Given the description of an element on the screen output the (x, y) to click on. 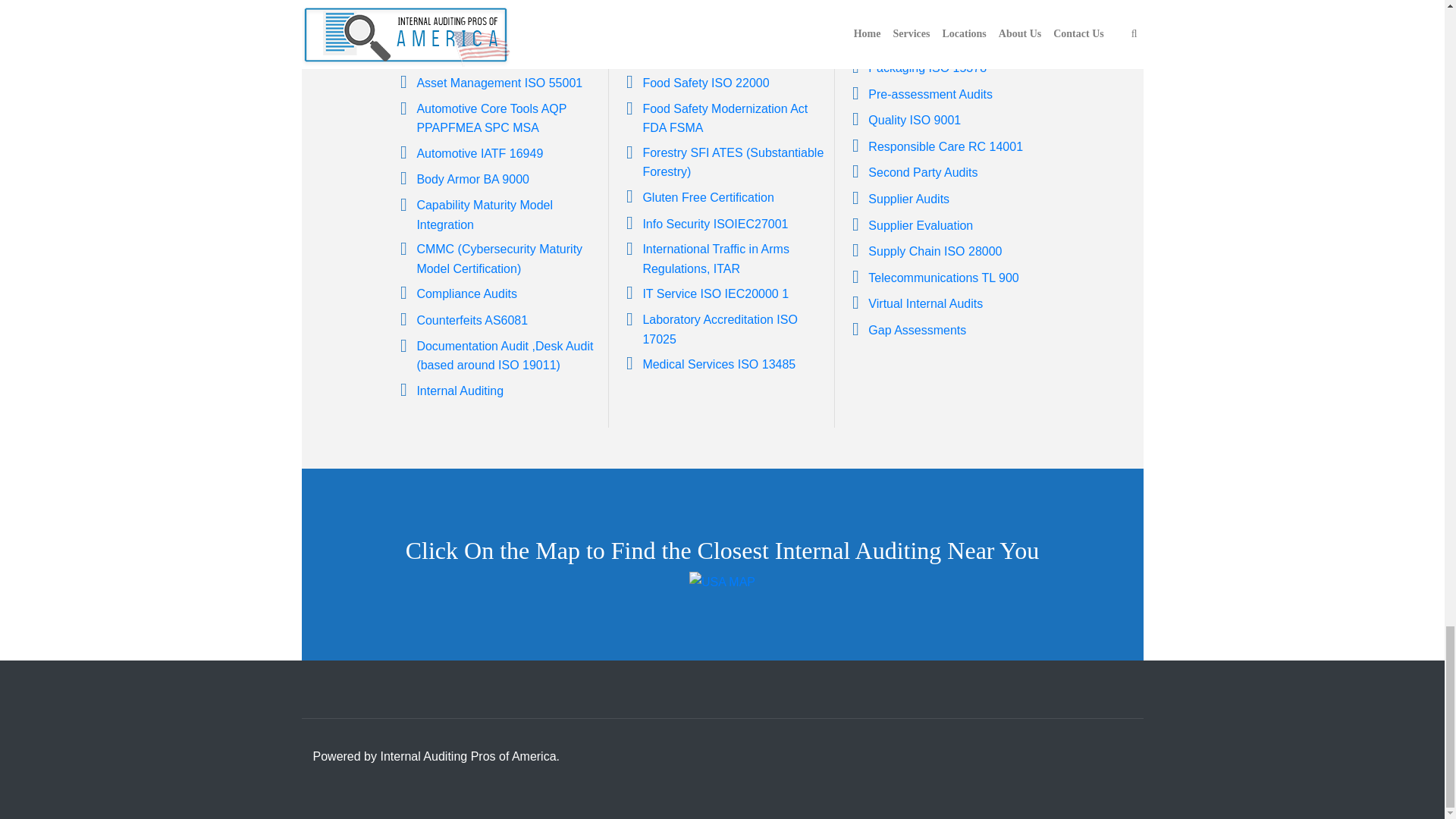
Aerospace AS9101 (467, 5)
Internal Auditing (459, 390)
Counterfeits AS6081 (471, 319)
Anti-Bribery ISO 37001 (478, 56)
Environmental ISO 14001 (711, 5)
Asset Management ISO 55001 (499, 82)
Automotive Core Tools AQP PPAPFMEA SPC MSA (491, 118)
Ethical Sourcing SQFI (701, 30)
Compliance Audits (466, 293)
Body Armor BA 9000 (472, 178)
